Given the description of an element on the screen output the (x, y) to click on. 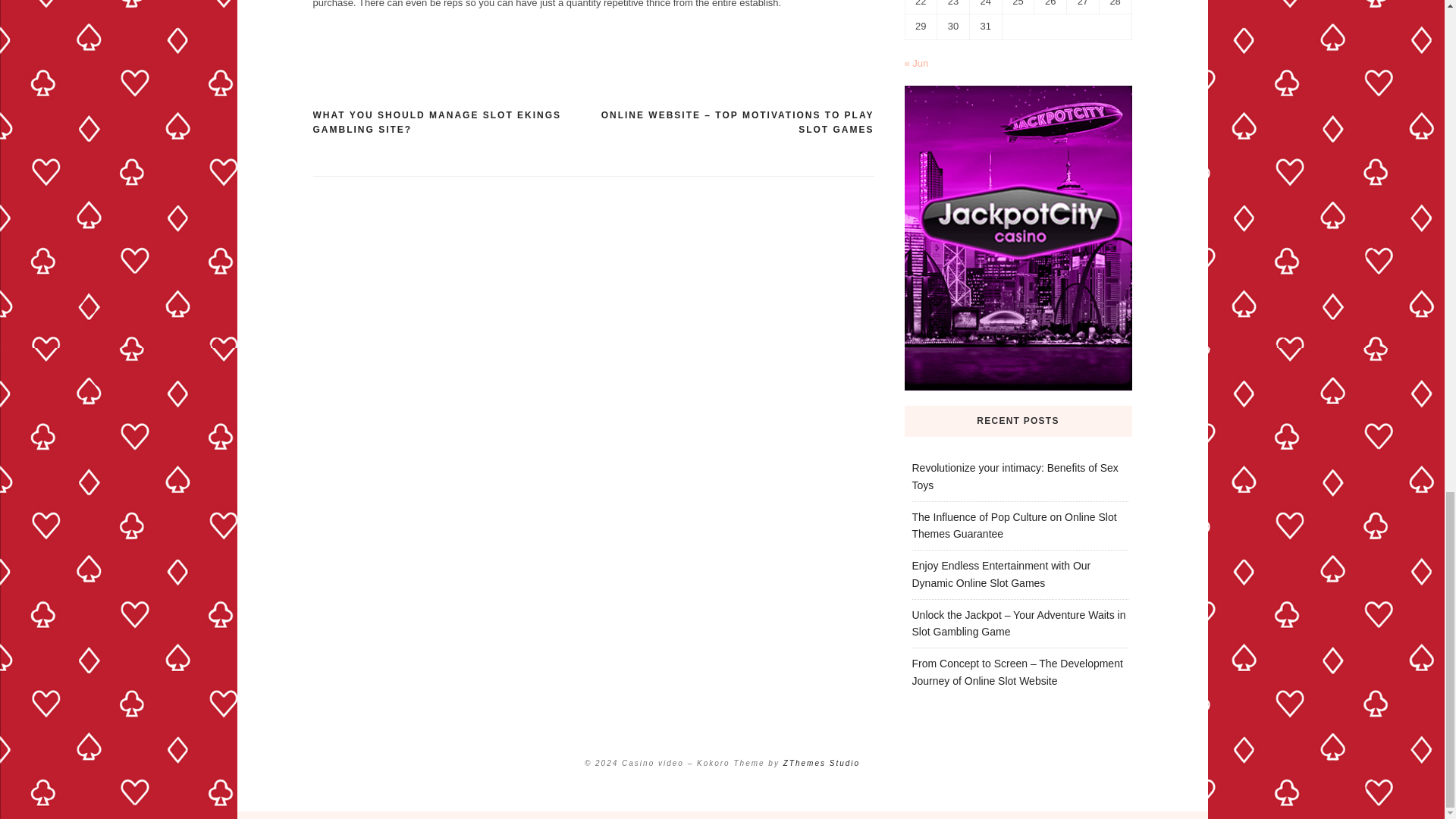
The Influence of Pop Culture on Online Slot Themes Guarantee (1013, 525)
WHAT YOU SHOULD MANAGE SLOT EKINGS GAMBLING SITE? (452, 123)
Revolutionize your intimacy: Benefits of Sex Toys (1014, 476)
ZThemes Studio (821, 763)
